Given the description of an element on the screen output the (x, y) to click on. 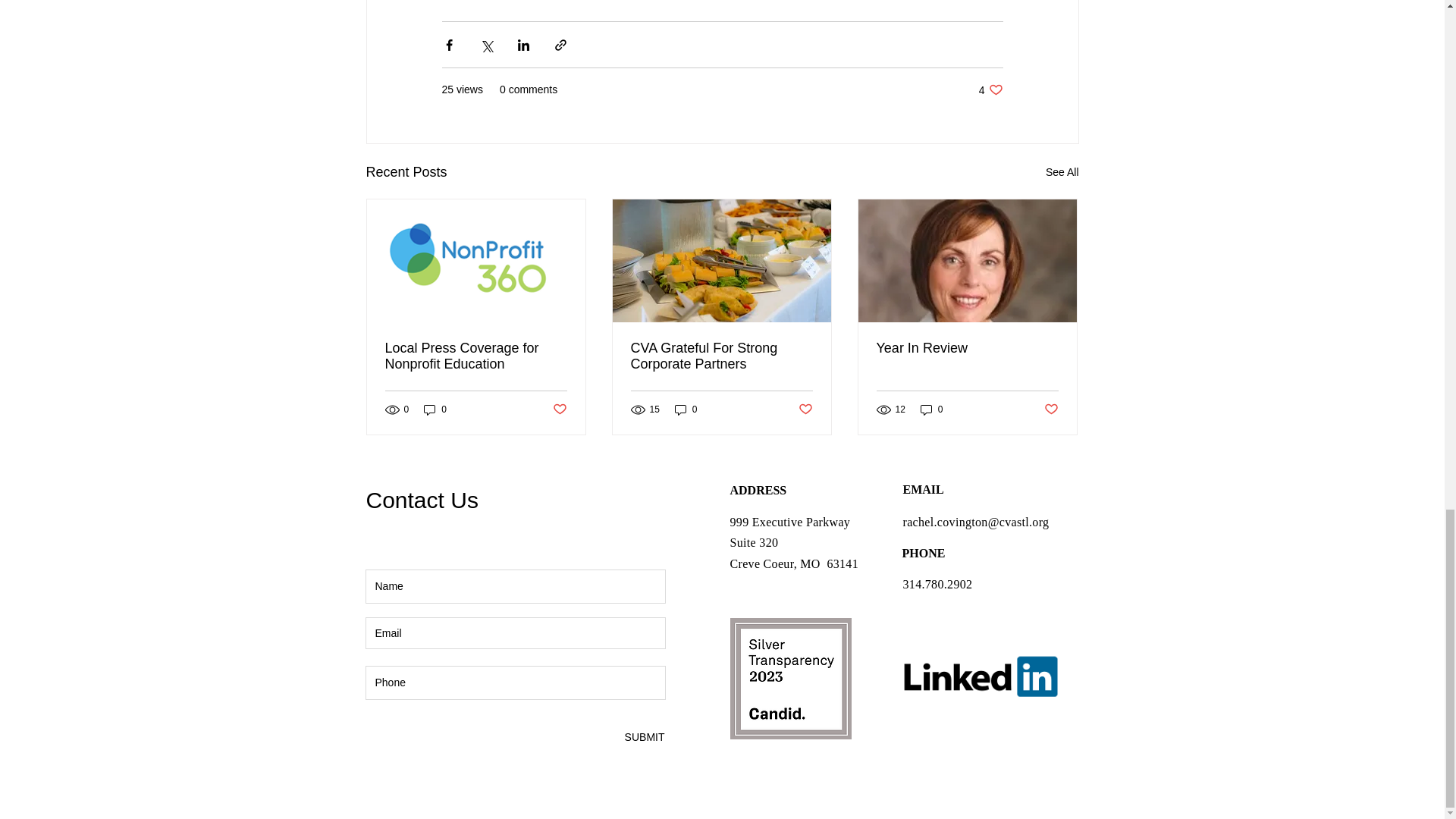
Post not marked as liked (1050, 409)
CVA Grateful For Strong Corporate Partners (990, 89)
0 (721, 356)
See All (685, 409)
SUBMIT (1061, 172)
0 (644, 737)
0 (931, 409)
Year In Review (435, 409)
Post not marked as liked (967, 348)
